Given the description of an element on the screen output the (x, y) to click on. 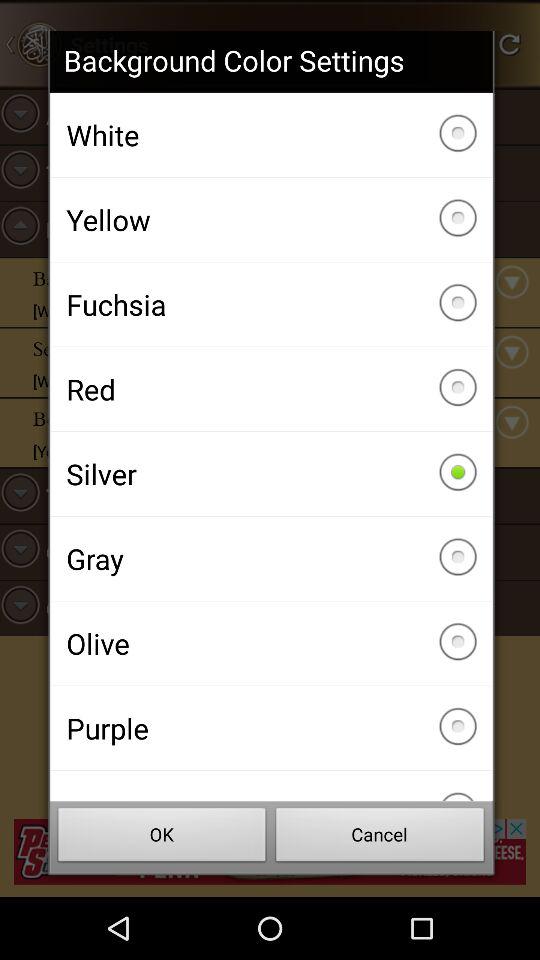
open ok at the bottom left corner (162, 837)
